Given the description of an element on the screen output the (x, y) to click on. 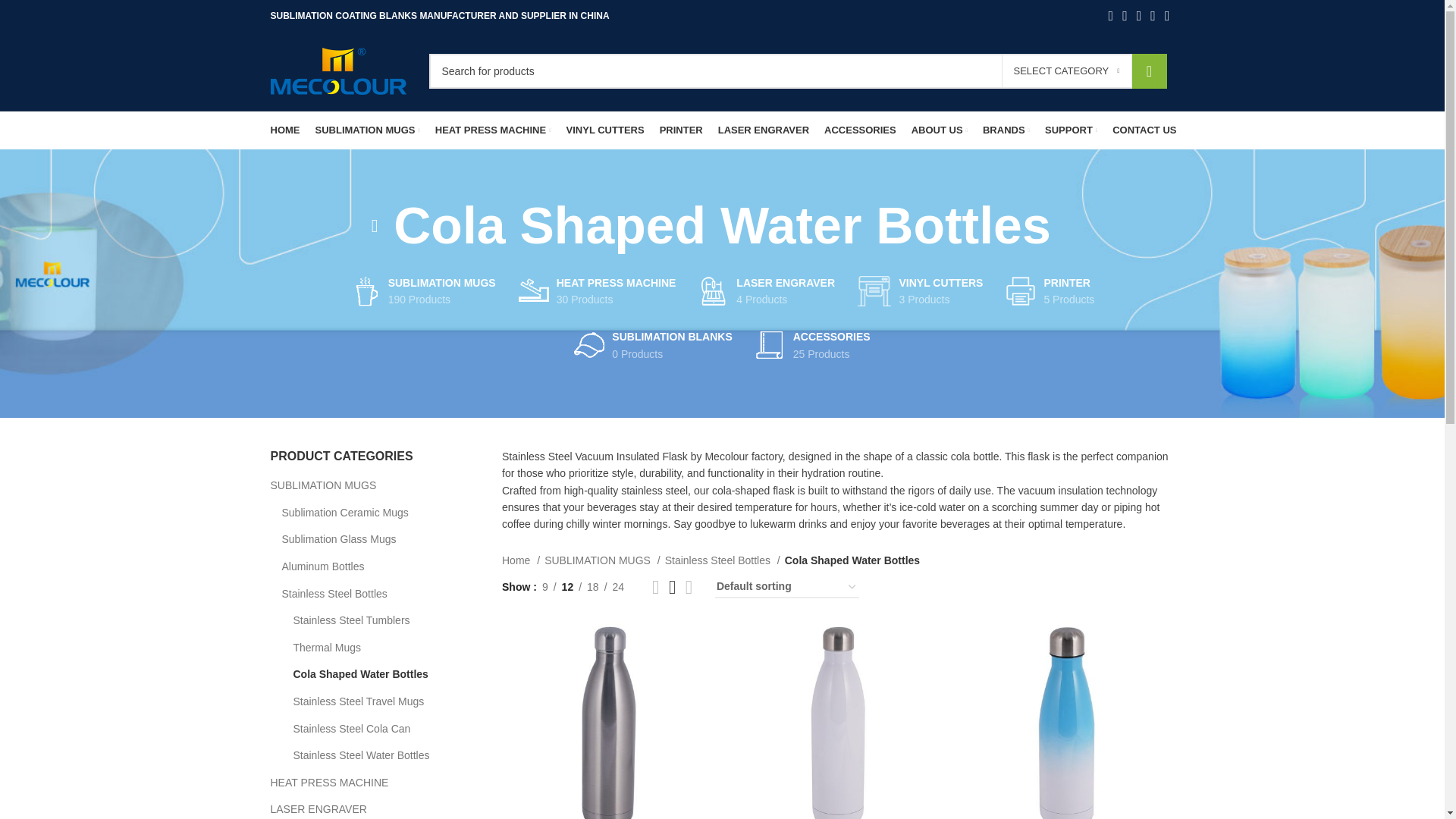
SELECT CATEGORY (1066, 70)
Search for products (798, 71)
SELECT CATEGORY (1066, 70)
